Given the description of an element on the screen output the (x, y) to click on. 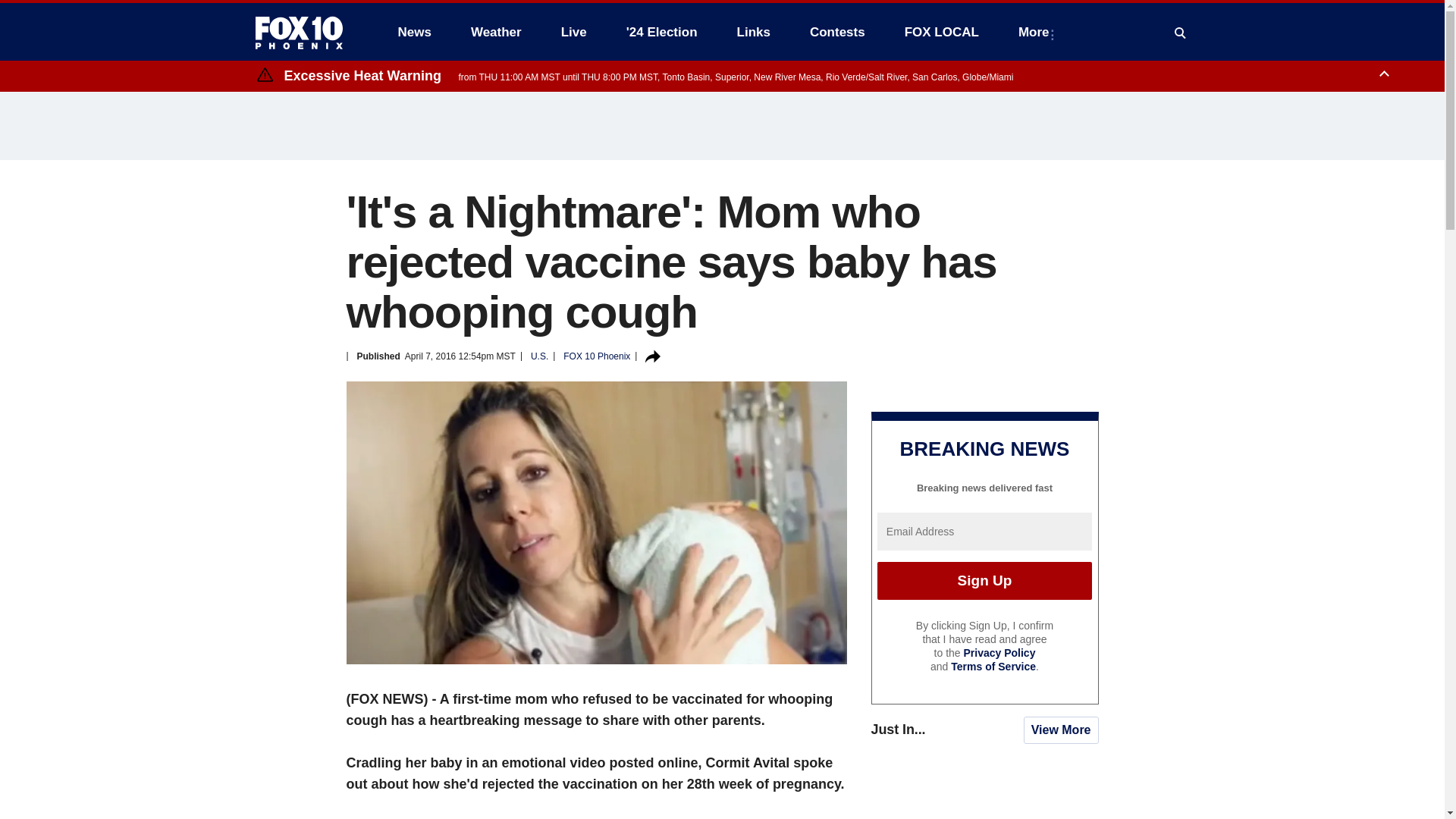
Links (754, 32)
Weather (496, 32)
More (1036, 32)
Contests (837, 32)
Live (573, 32)
FOX LOCAL (941, 32)
News (413, 32)
Sign Up (984, 580)
'24 Election (662, 32)
